Given the description of an element on the screen output the (x, y) to click on. 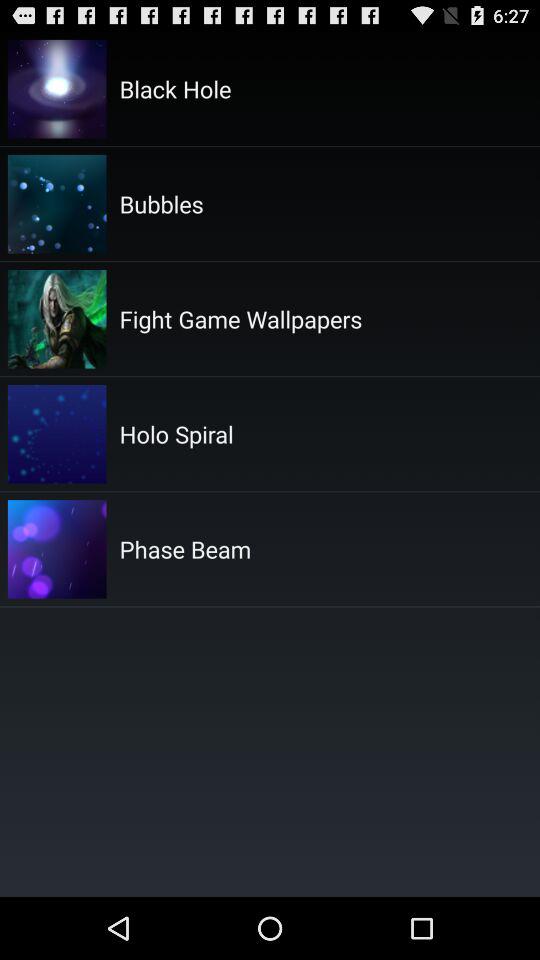
select fight game wallpapers icon (240, 318)
